Given the description of an element on the screen output the (x, y) to click on. 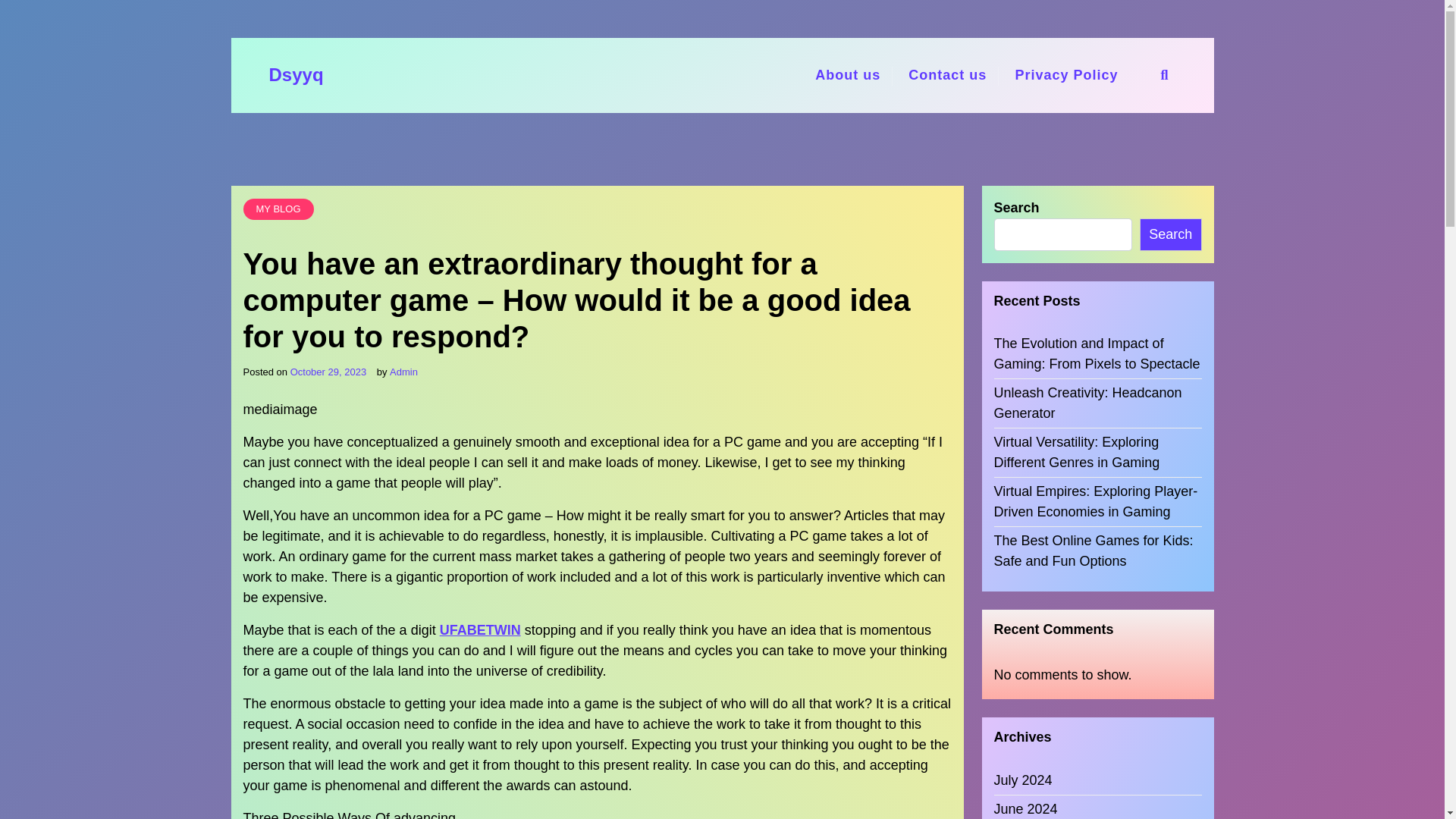
The Best Online Games for Kids: Safe and Fun Options (1096, 550)
June 2024 (1024, 809)
Virtual Versatility: Exploring Different Genres in Gaming (1096, 452)
Contact us (947, 75)
About us (847, 75)
July 2024 (1021, 780)
The Evolution and Impact of Gaming: From Pixels to Spectacle (1096, 353)
Search (1026, 409)
Search (1171, 234)
MY BLOG (278, 209)
Admin (403, 371)
Virtual Empires: Exploring Player-Driven Economies in Gaming (1096, 501)
Privacy Policy (1066, 75)
UFABETWIN (480, 629)
